Given the description of an element on the screen output the (x, y) to click on. 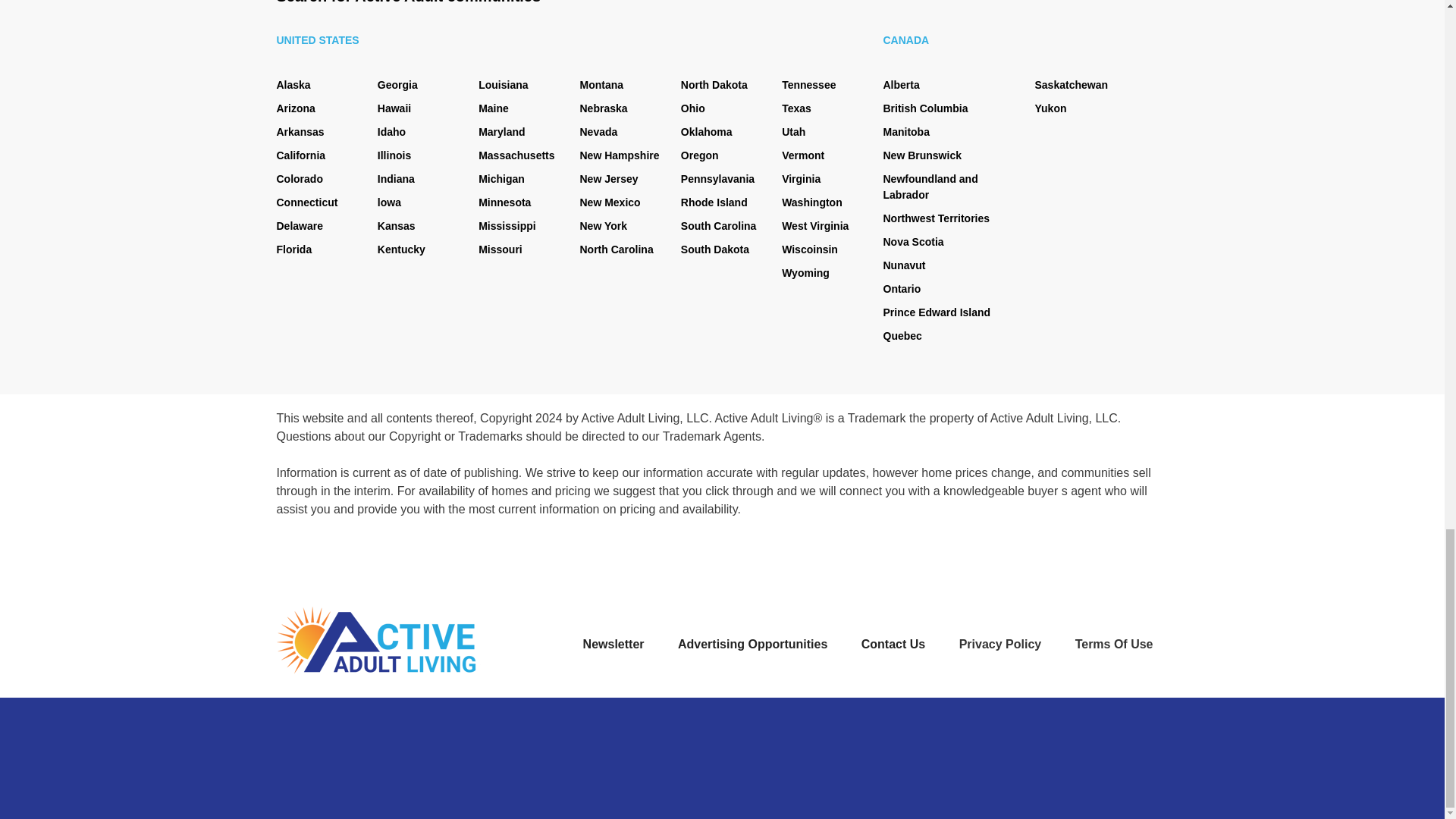
Delaware (298, 225)
Connecticut (306, 202)
Hawaii (393, 108)
Idaho (391, 132)
Arizona (295, 108)
Alaska (293, 84)
Georgia (397, 84)
Illinois (393, 155)
Indiana (395, 178)
Colorado (298, 178)
